Given the description of an element on the screen output the (x, y) to click on. 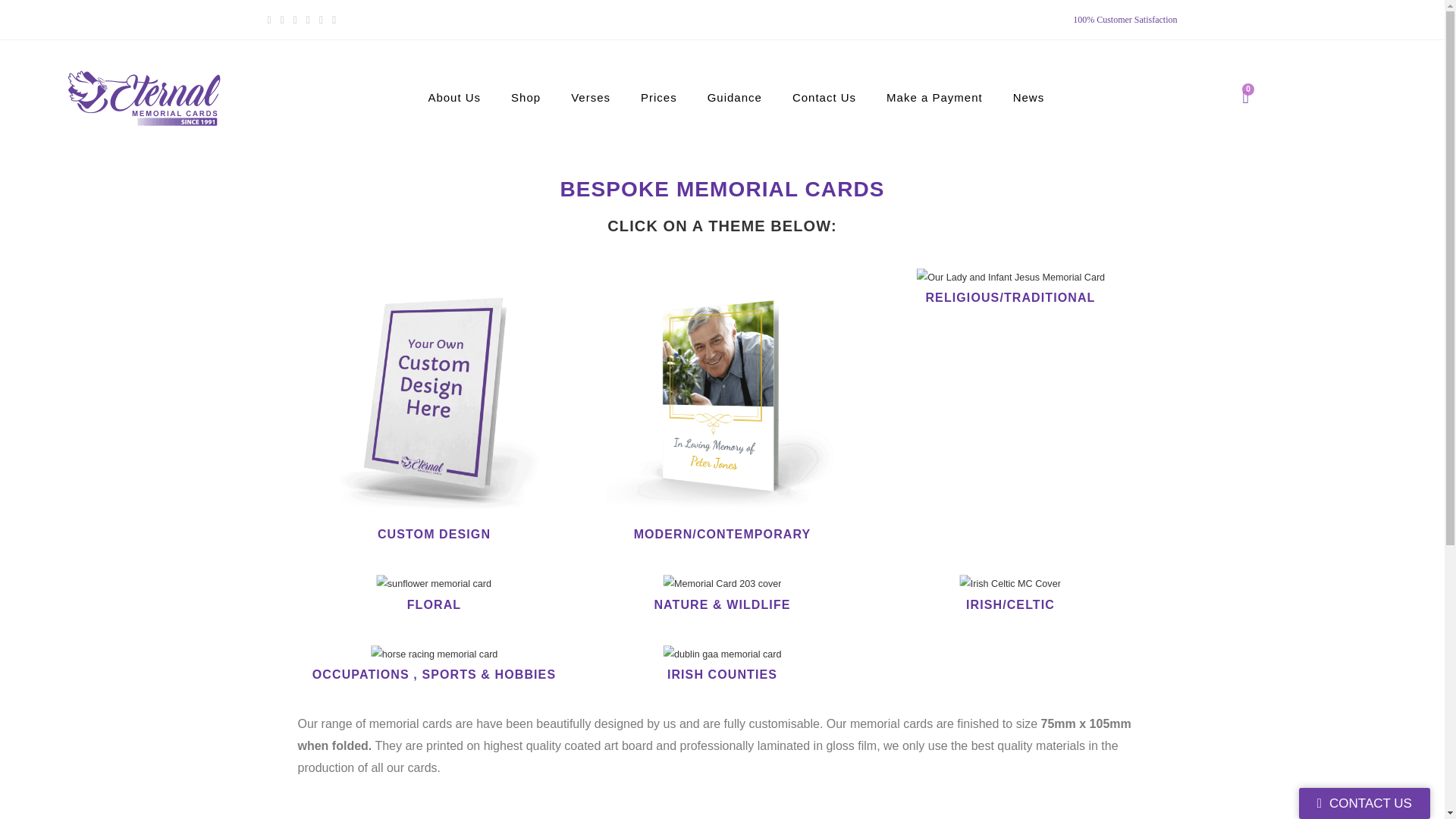
0 (1245, 97)
Shop (526, 97)
Prices (659, 97)
Verses (591, 97)
Make a Payment (933, 97)
News (1028, 97)
Contact Us (823, 97)
About Us (454, 97)
Guidance (735, 97)
